Given the description of an element on the screen output the (x, y) to click on. 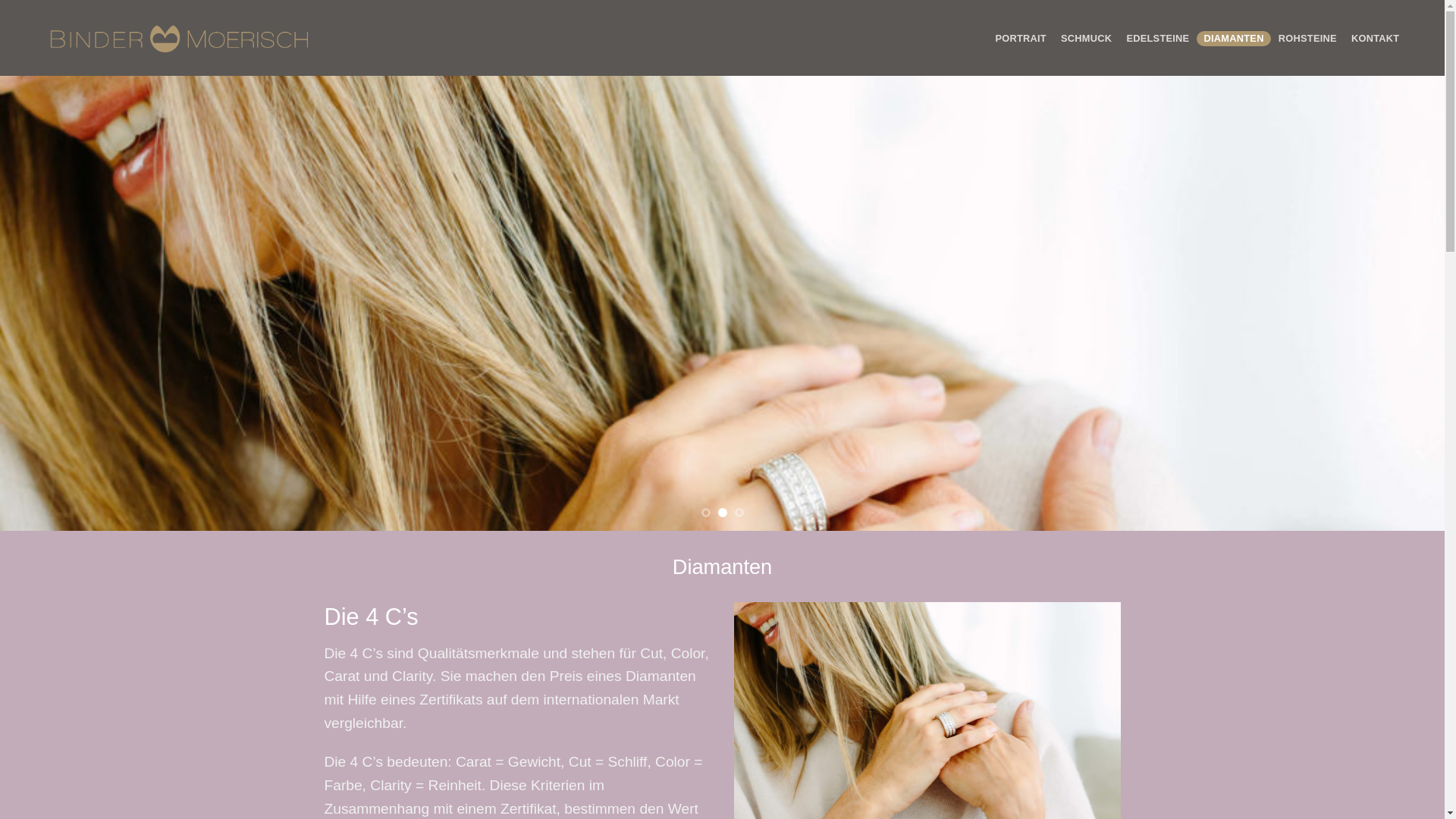
DIAMANTEN Element type: text (1233, 38)
Binder-Moerisch - Goldschmied Element type: hover (178, 37)
KONTAKT Element type: text (1374, 38)
EDELSTEINE Element type: text (1157, 38)
ROHSTEINE Element type: text (1306, 38)
Skip to content Element type: text (0, 0)
SCHMUCK Element type: text (1085, 38)
PORTRAIT Element type: text (1021, 38)
